Given the description of an element on the screen output the (x, y) to click on. 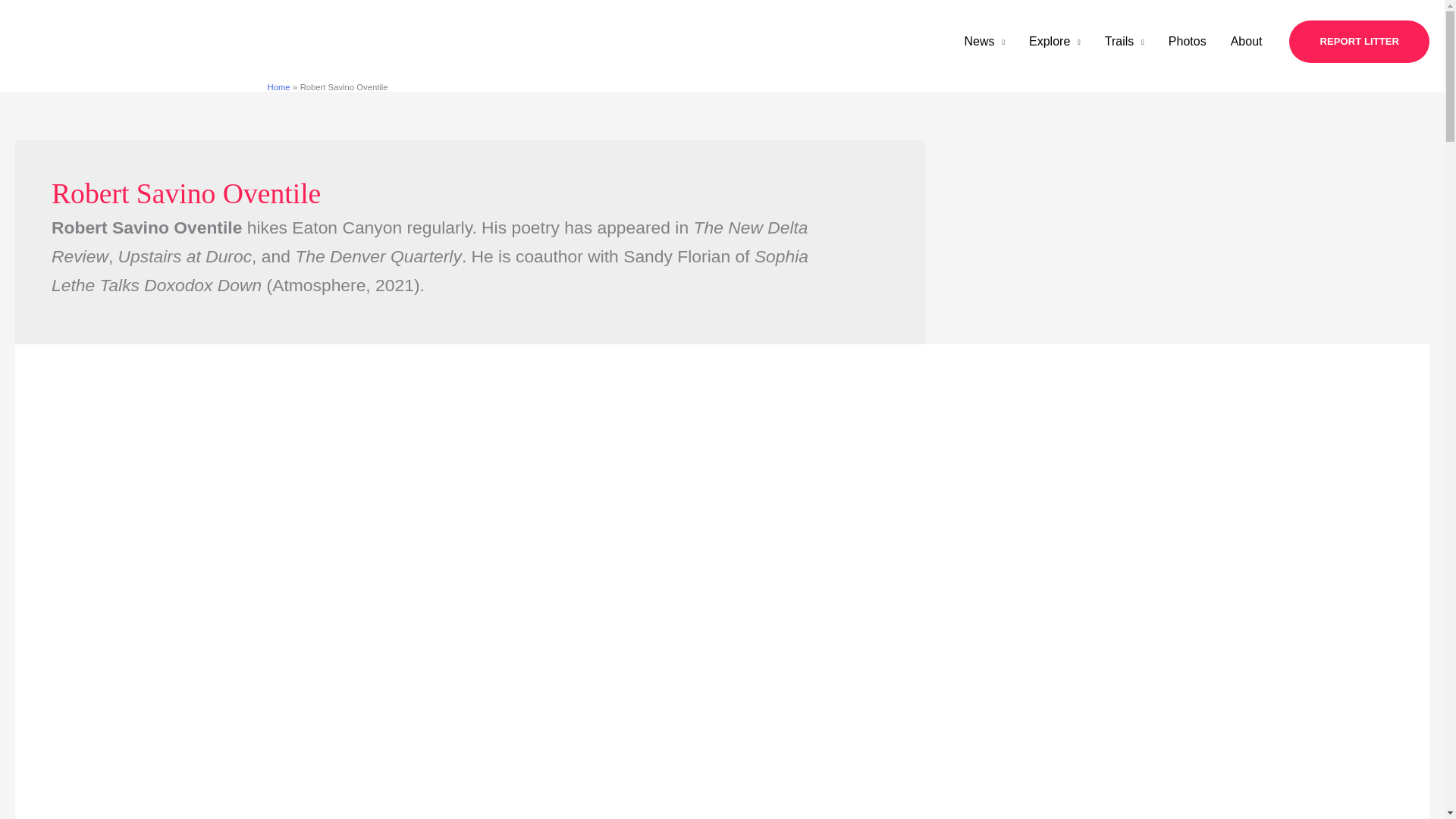
Explore (1054, 41)
About (1246, 41)
News (984, 41)
REPORT LITTER (1358, 41)
Trails (1124, 41)
Photos (1187, 41)
Home (277, 86)
